Given the description of an element on the screen output the (x, y) to click on. 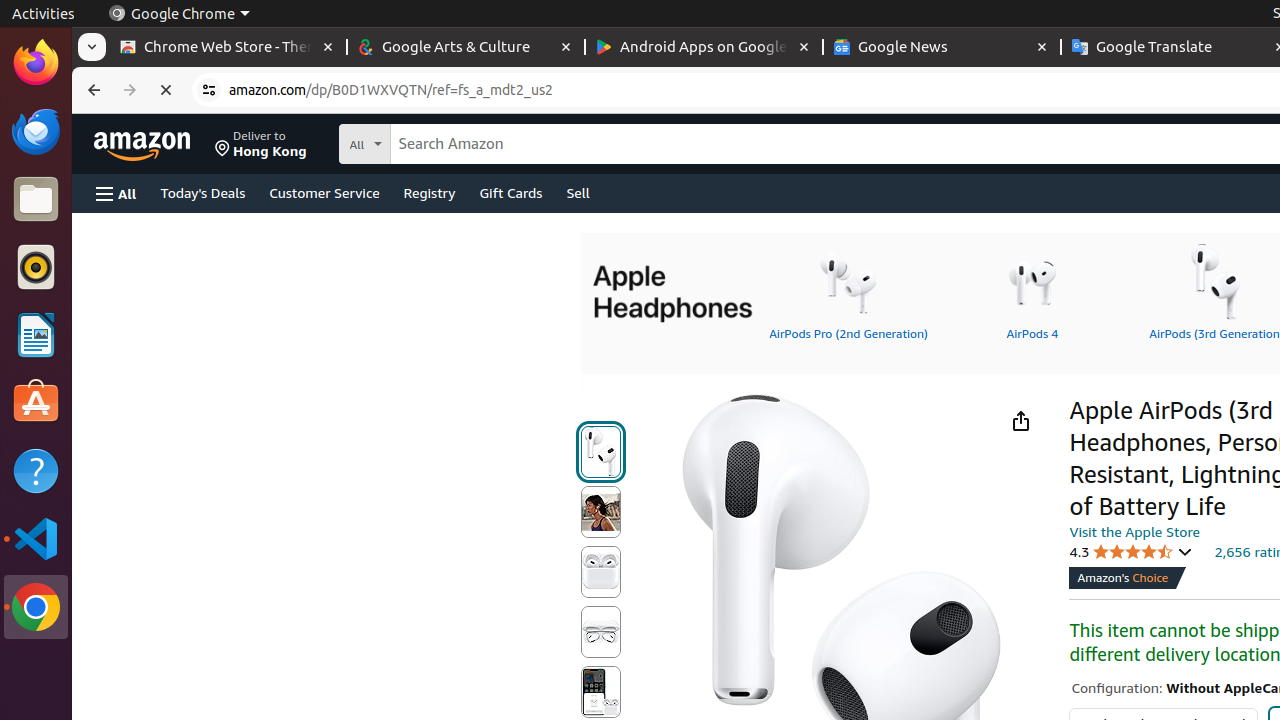
Back Element type: push-button (91, 90)
AirPods 4 Element type: link (1032, 291)
Google Chrome Element type: push-button (36, 607)
Visit the Apple Store Element type: link (1134, 531)
Sell Element type: link (578, 192)
